Given the description of an element on the screen output the (x, y) to click on. 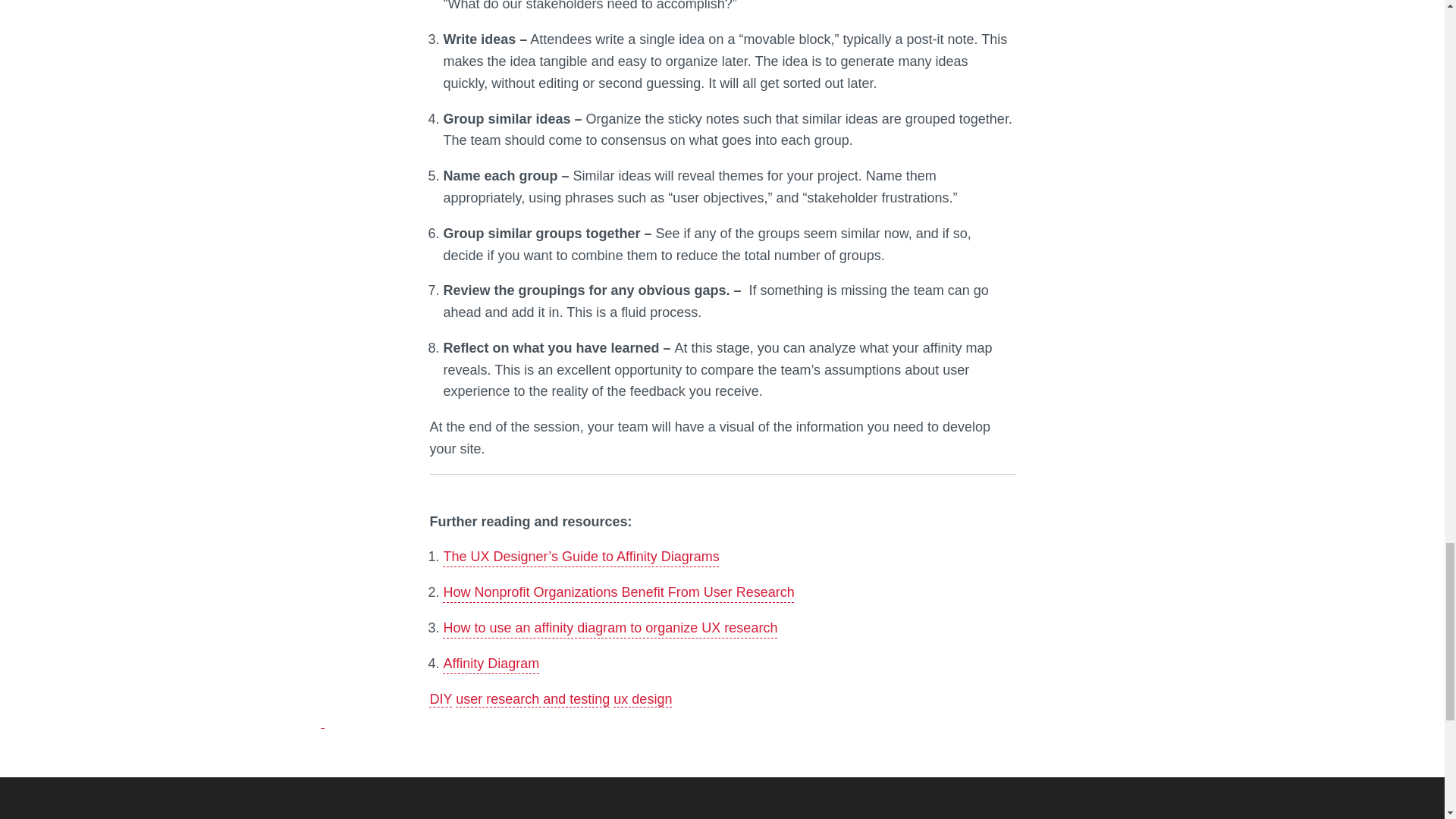
ux design (641, 698)
How to use an affinity diagram to organize UX research (609, 627)
Affinity Diagram (490, 663)
How Nonprofit Organizations Benefit From User Research (617, 591)
user research and testing (532, 698)
DIY (440, 698)
